Given the description of an element on the screen output the (x, y) to click on. 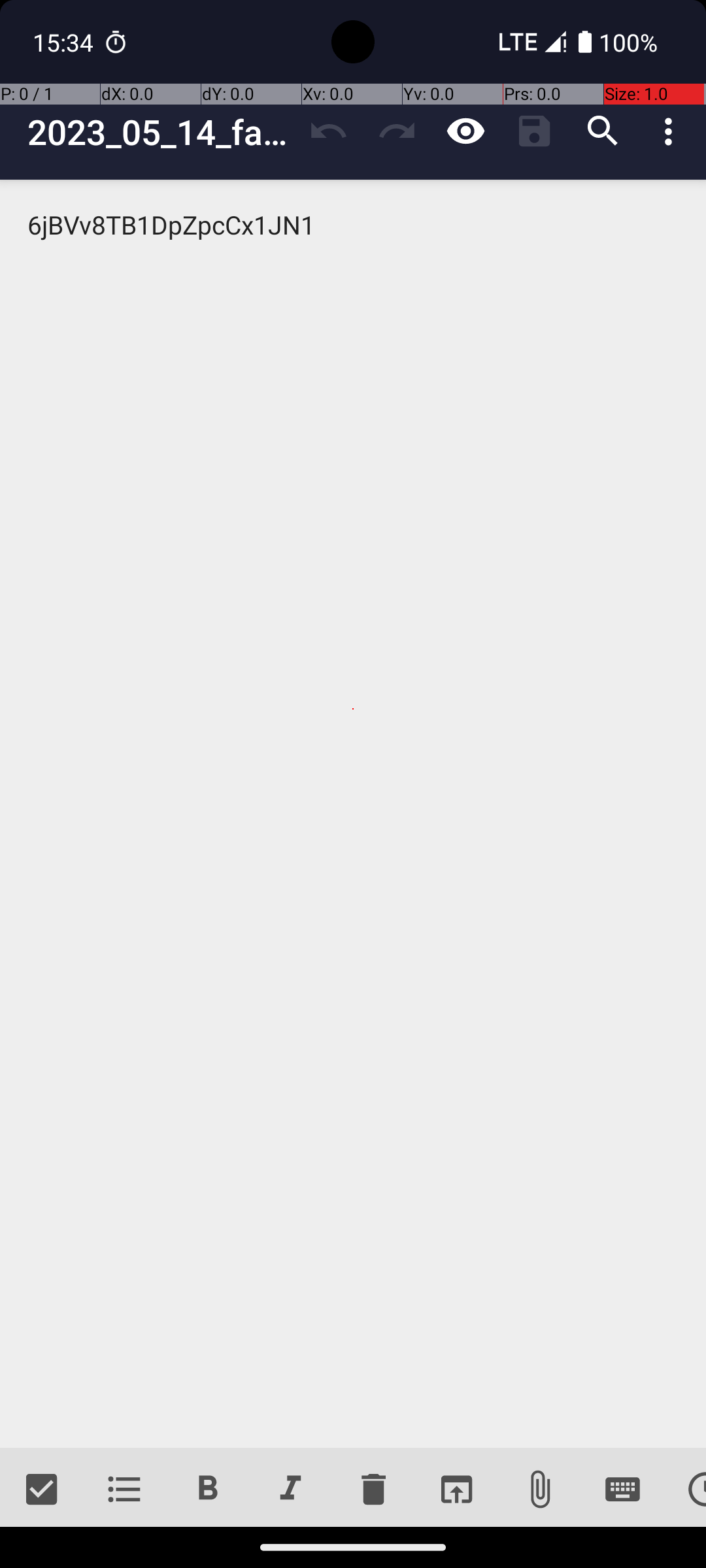
2023_05_14_favorite_book_quotes Element type: android.widget.TextView (160, 131)
6jBVv8TB1DpZpcCx1JN1
 Element type: android.widget.EditText (353, 813)
